Given the description of an element on the screen output the (x, y) to click on. 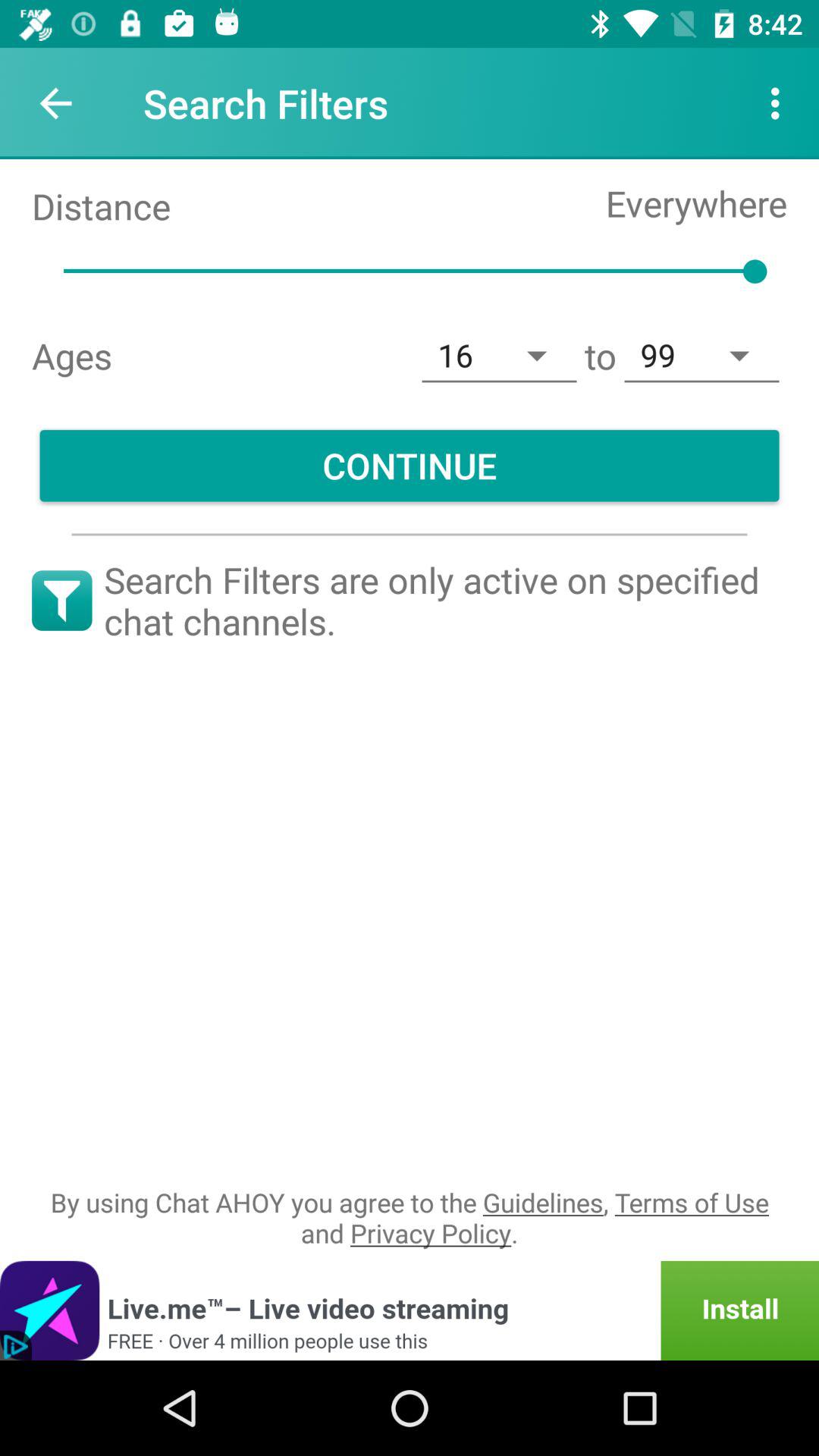
click icon to the left of the search filters item (55, 103)
